Given the description of an element on the screen output the (x, y) to click on. 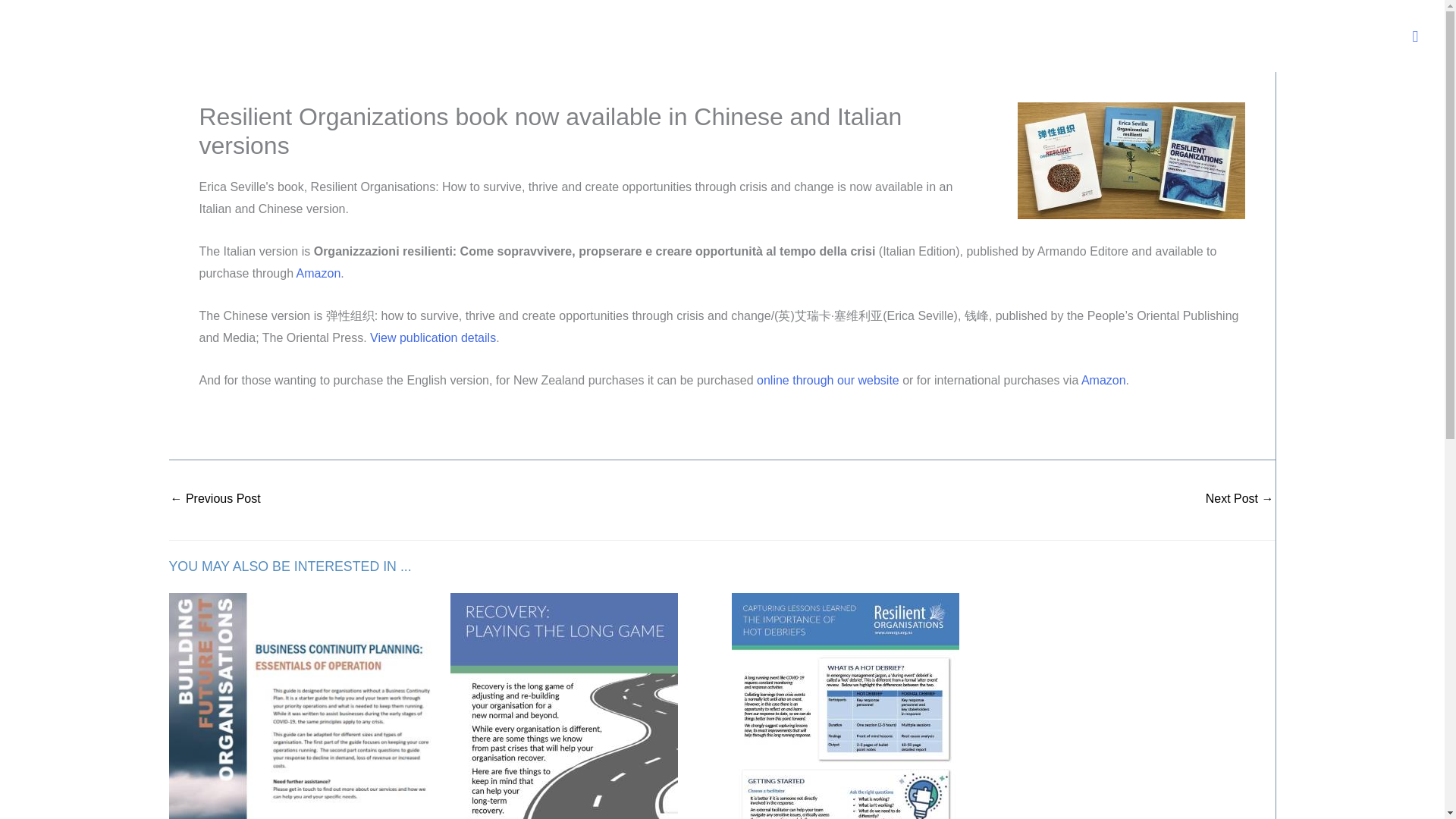
Our projects (967, 39)
Our services (862, 39)
Ellie Kay shortlisted for GRRN Young Researchers Award (1239, 500)
Expert Opinions on New Zealand Resilience Index (215, 500)
